Given the description of an element on the screen output the (x, y) to click on. 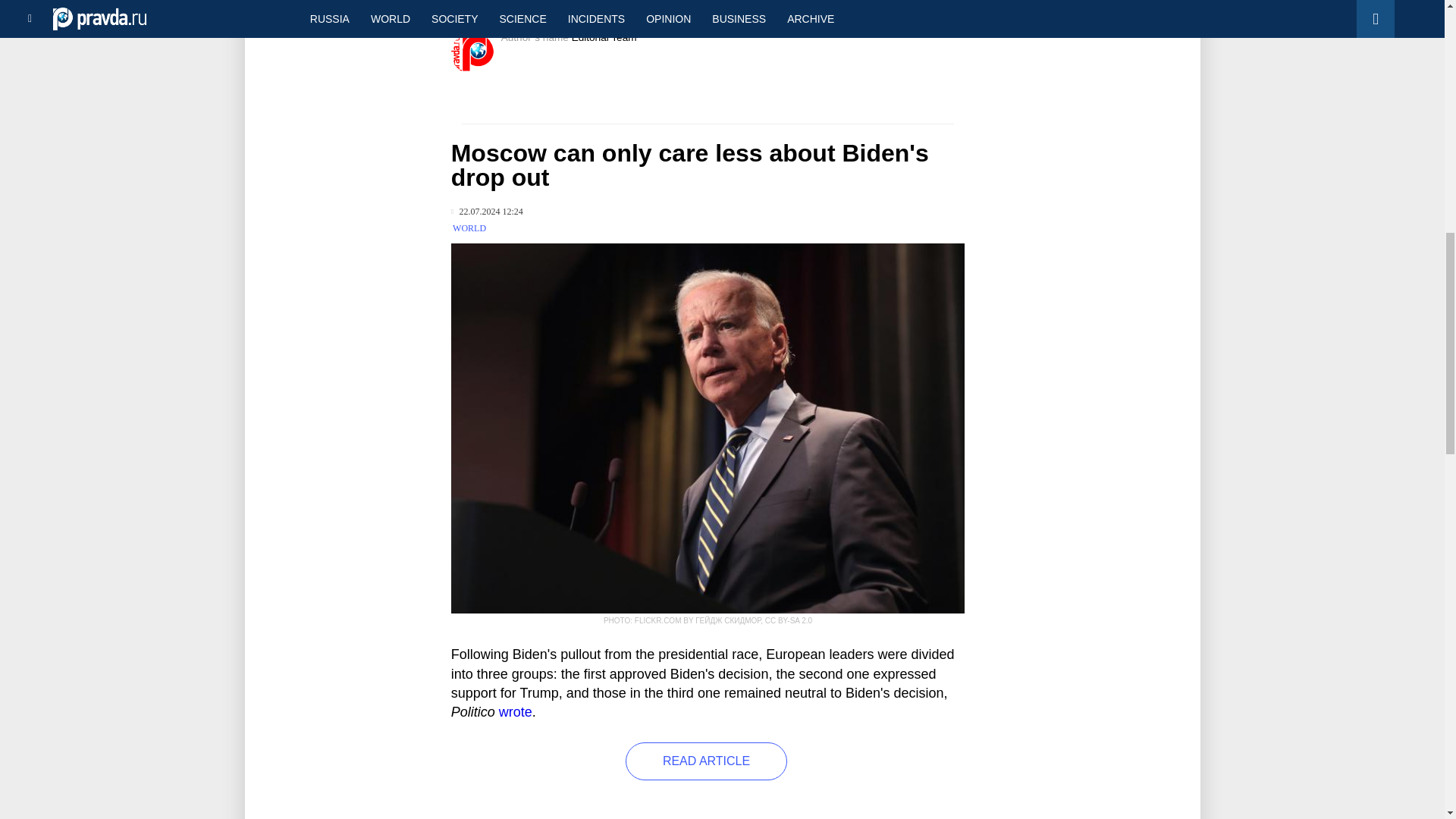
Back to top (1418, 79)
Telegram channel (652, 4)
Published (486, 211)
RSS (795, 4)
WORLD (469, 227)
Facebook (744, 4)
Editorial Team (604, 37)
